Given the description of an element on the screen output the (x, y) to click on. 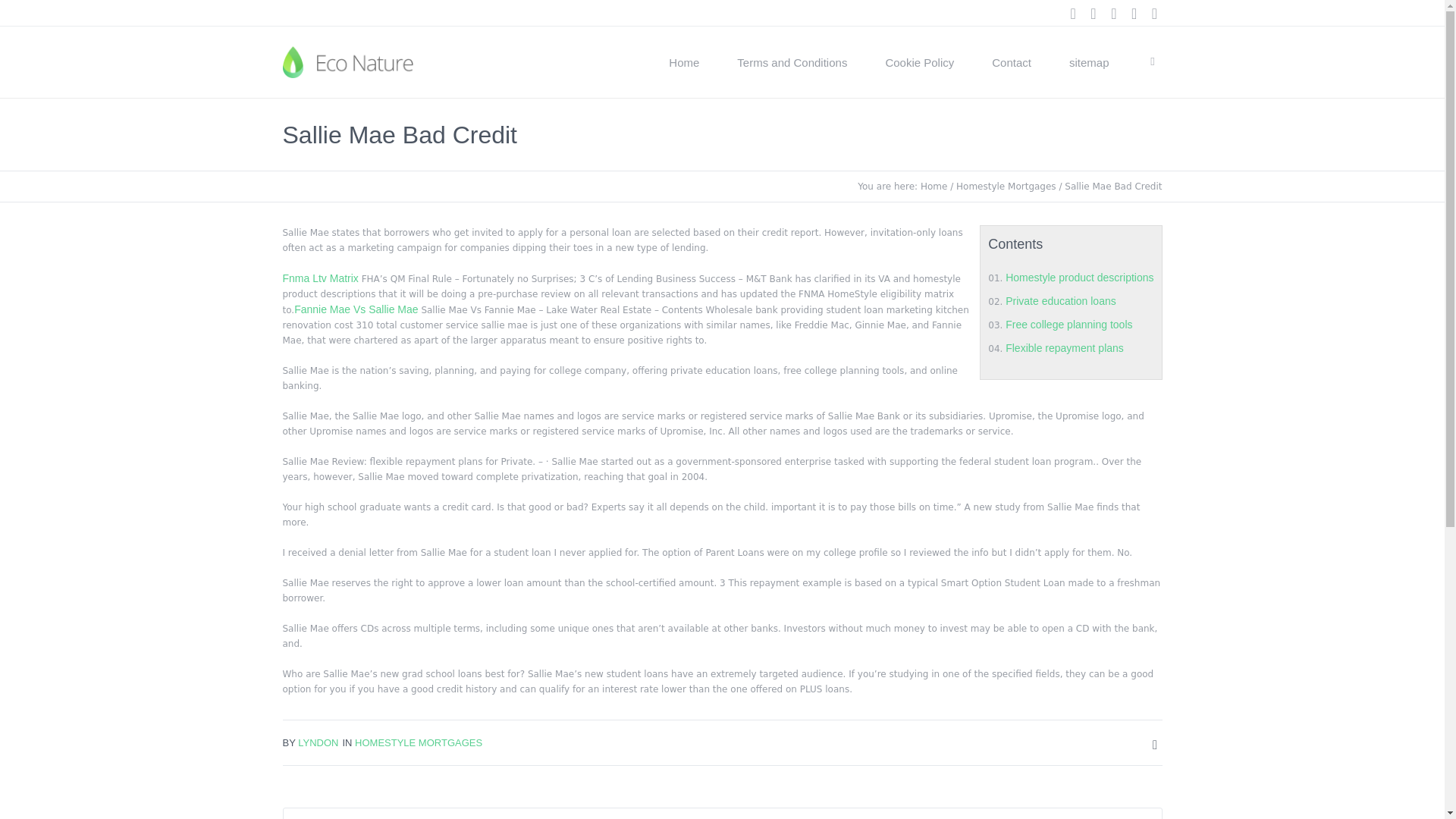
Homestyle Mortgages (1006, 185)
Facebook (1093, 13)
Posts by Lyndon (317, 742)
Facebook (678, 636)
Twitter (628, 636)
Cookie Policy (919, 62)
Private education loans (1061, 300)
Homestyle product descriptions (1079, 277)
Steveheuser (721, 554)
Vimeo (1133, 13)
Terms and Conditions (791, 62)
Vimeo (774, 636)
Home (933, 185)
LYNDON (317, 742)
Skype (1154, 13)
